Given the description of an element on the screen output the (x, y) to click on. 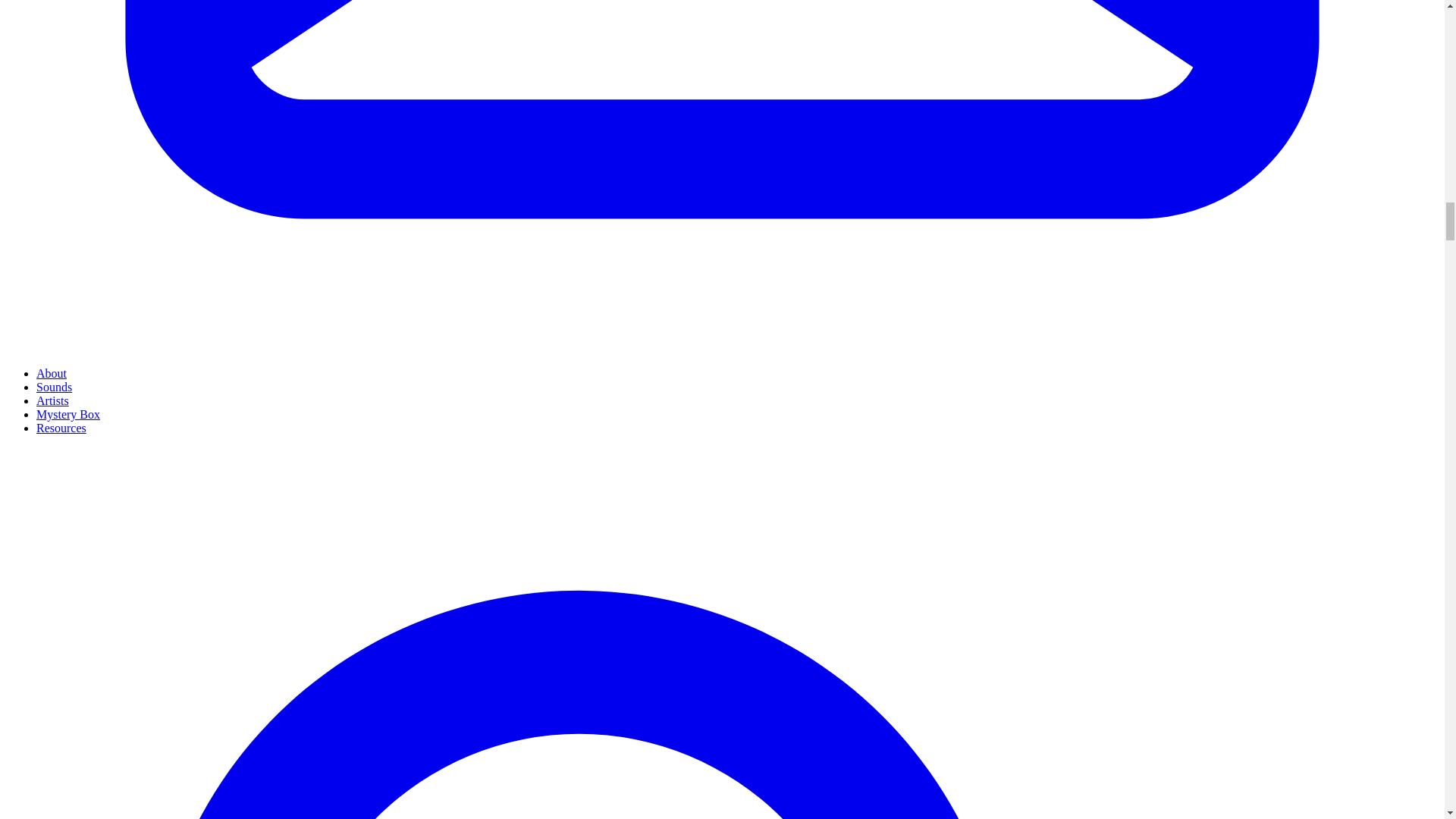
Sounds (53, 386)
Artists (52, 400)
Resources (60, 427)
Mystery Box (68, 413)
About (51, 373)
